Given the description of an element on the screen output the (x, y) to click on. 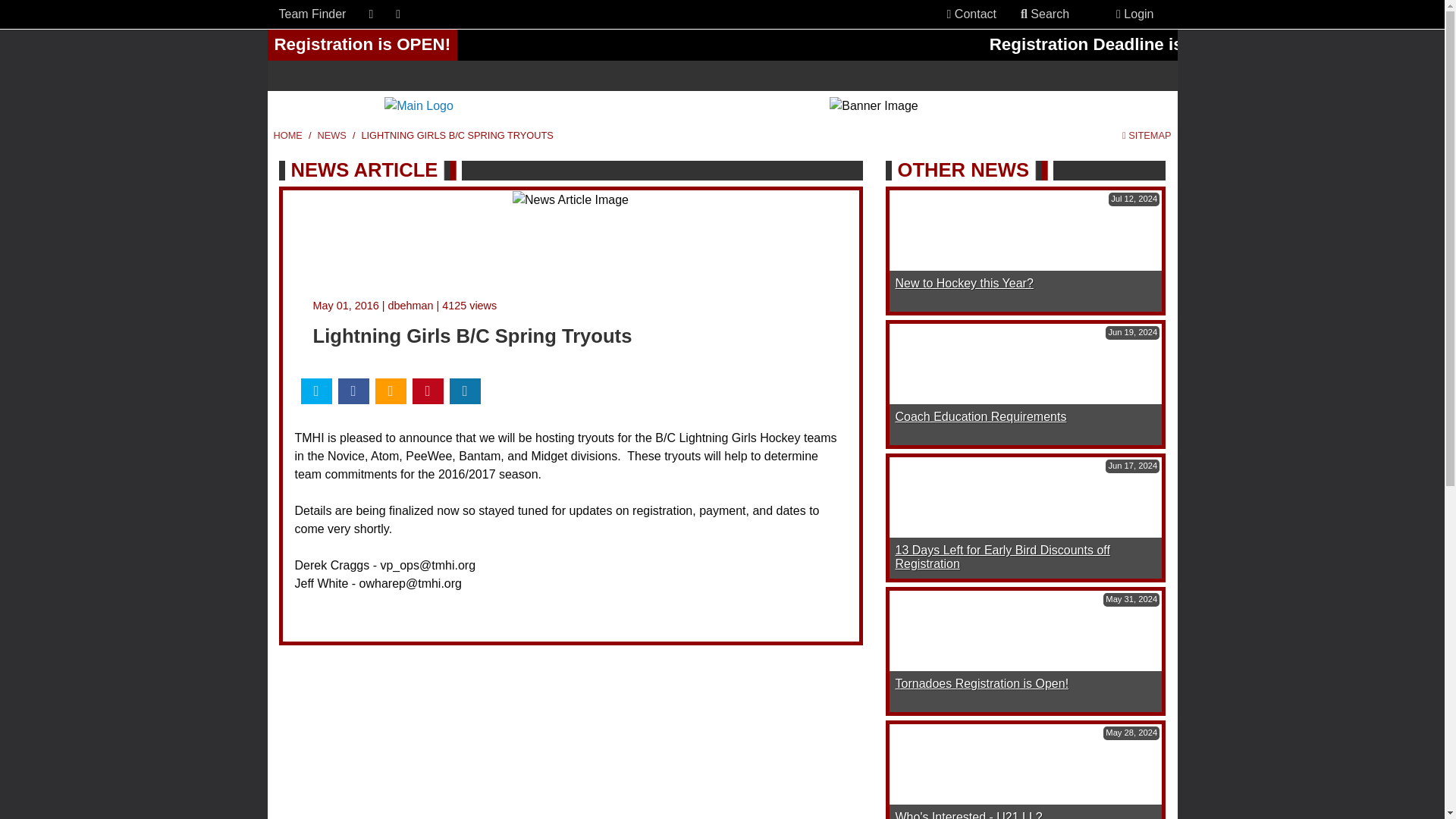
 Contact (971, 14)
Registration is OPEN! (721, 44)
Team Finder (312, 13)
 Search (1045, 14)
 Login (1134, 14)
